Given the description of an element on the screen output the (x, y) to click on. 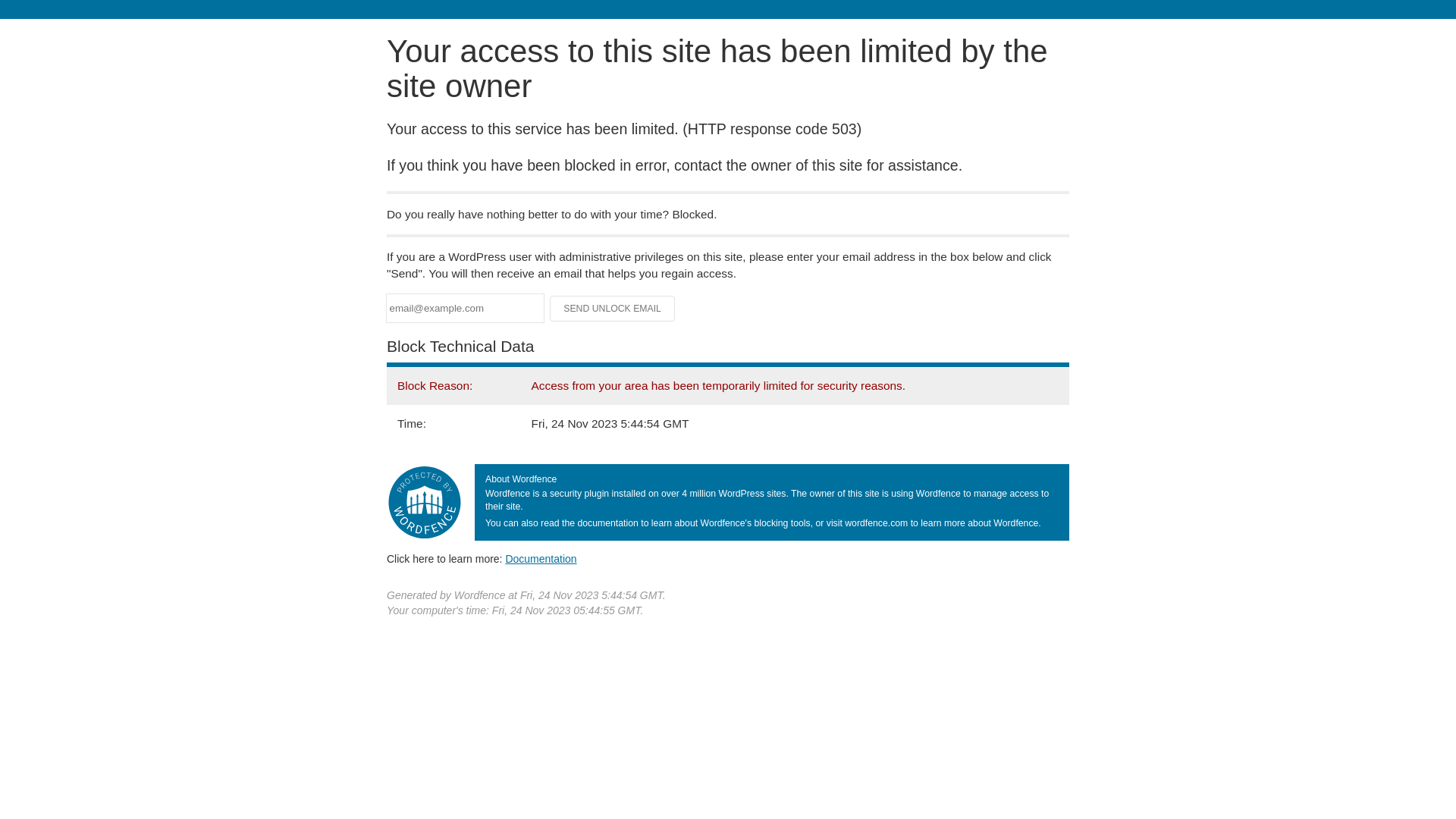
Documentation Element type: text (540, 558)
Send Unlock Email Element type: text (612, 308)
